Given the description of an element on the screen output the (x, y) to click on. 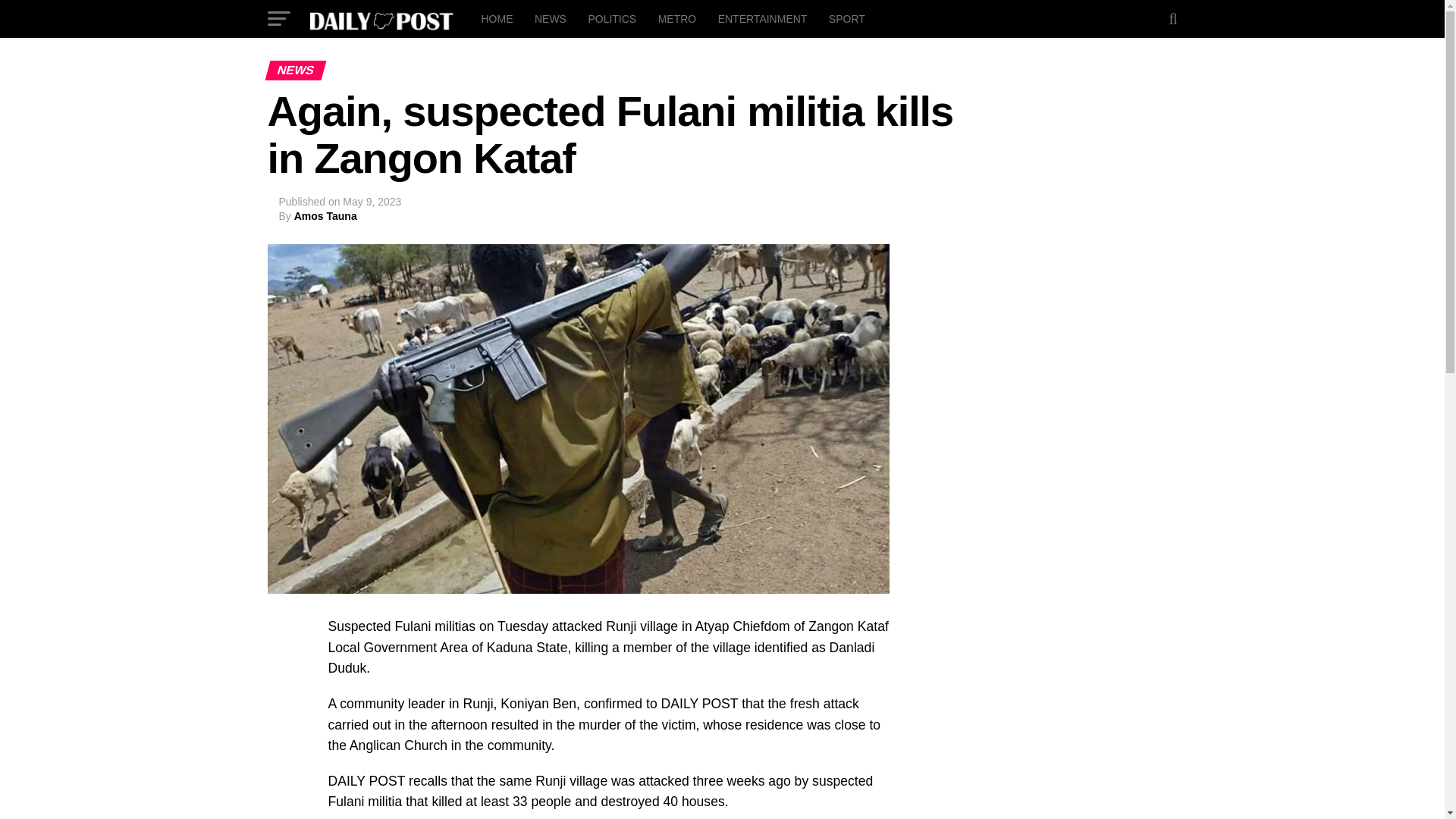
Posts by Amos Tauna (325, 215)
POLITICS (611, 18)
Amos Tauna (325, 215)
SPORT (847, 18)
METRO (677, 18)
HOME (496, 18)
NEWS (550, 18)
ENTERTAINMENT (762, 18)
